Given the description of an element on the screen output the (x, y) to click on. 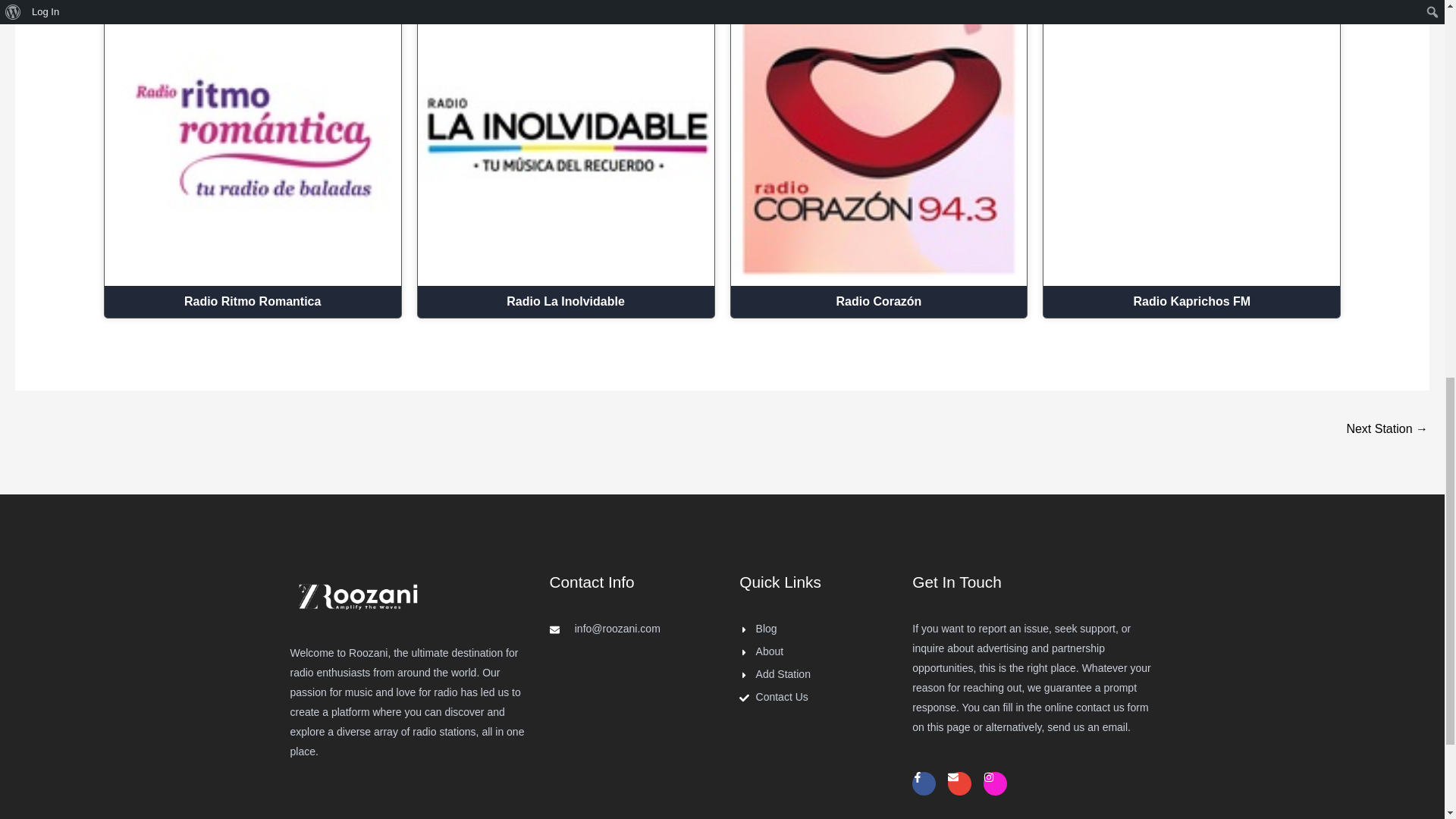
Aeroestereo (1386, 430)
Radio La Inolvidable (566, 301)
Radio Ritmo Romantica (252, 301)
